Given the description of an element on the screen output the (x, y) to click on. 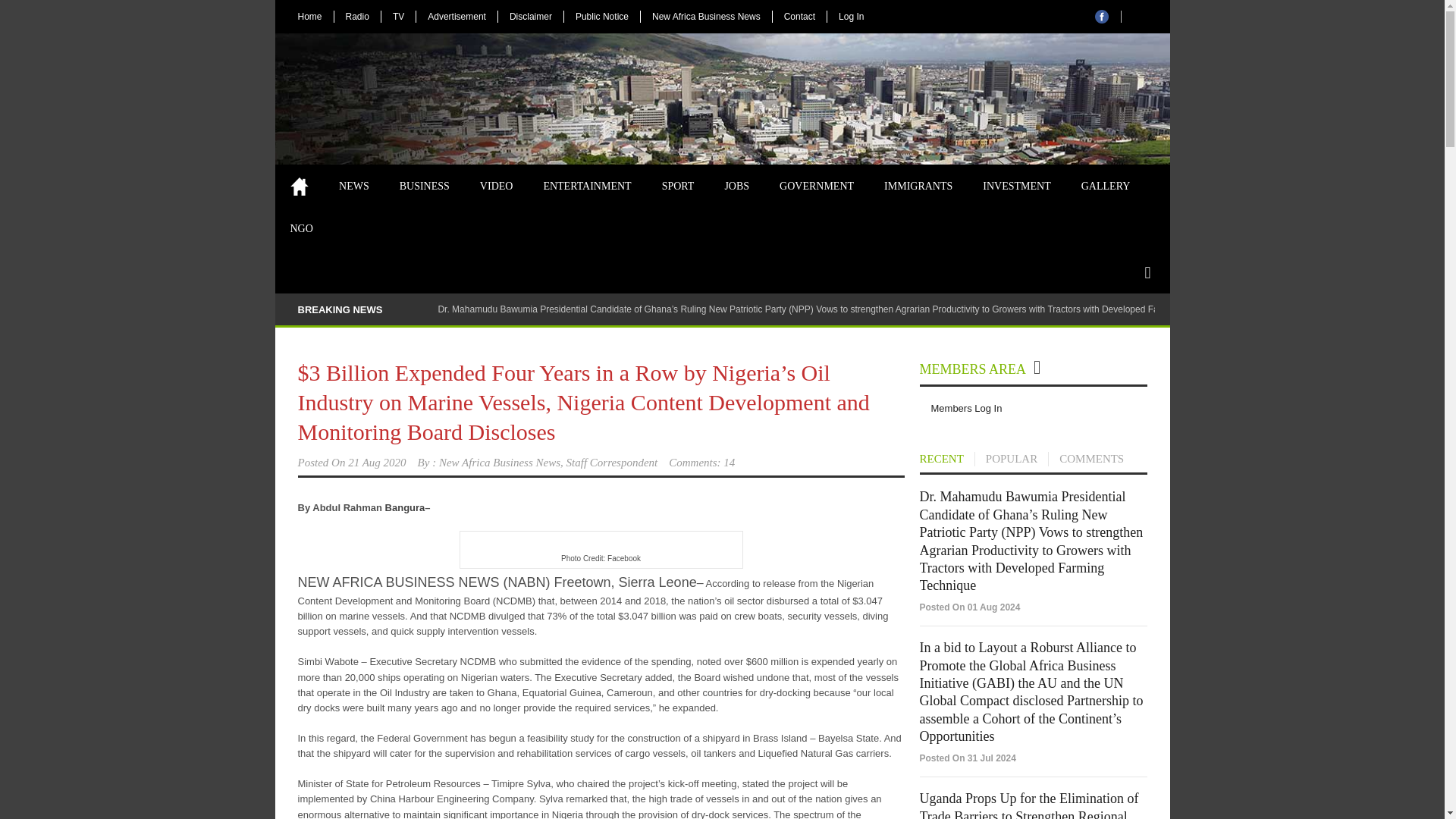
TV (397, 16)
SPORT (678, 186)
Contact (799, 16)
VIDEO (496, 186)
BUSINESS (424, 186)
Disclaimer (530, 16)
Public Notice (601, 16)
JOBS (736, 186)
Home (299, 186)
INVESTMENT (1016, 186)
GOVERNMENT (816, 186)
21 Aug 2020 (376, 462)
New Africa Business News (705, 16)
Posts by New Africa Business News, Staff Correspondent (548, 462)
Log In (851, 16)
